Given the description of an element on the screen output the (x, y) to click on. 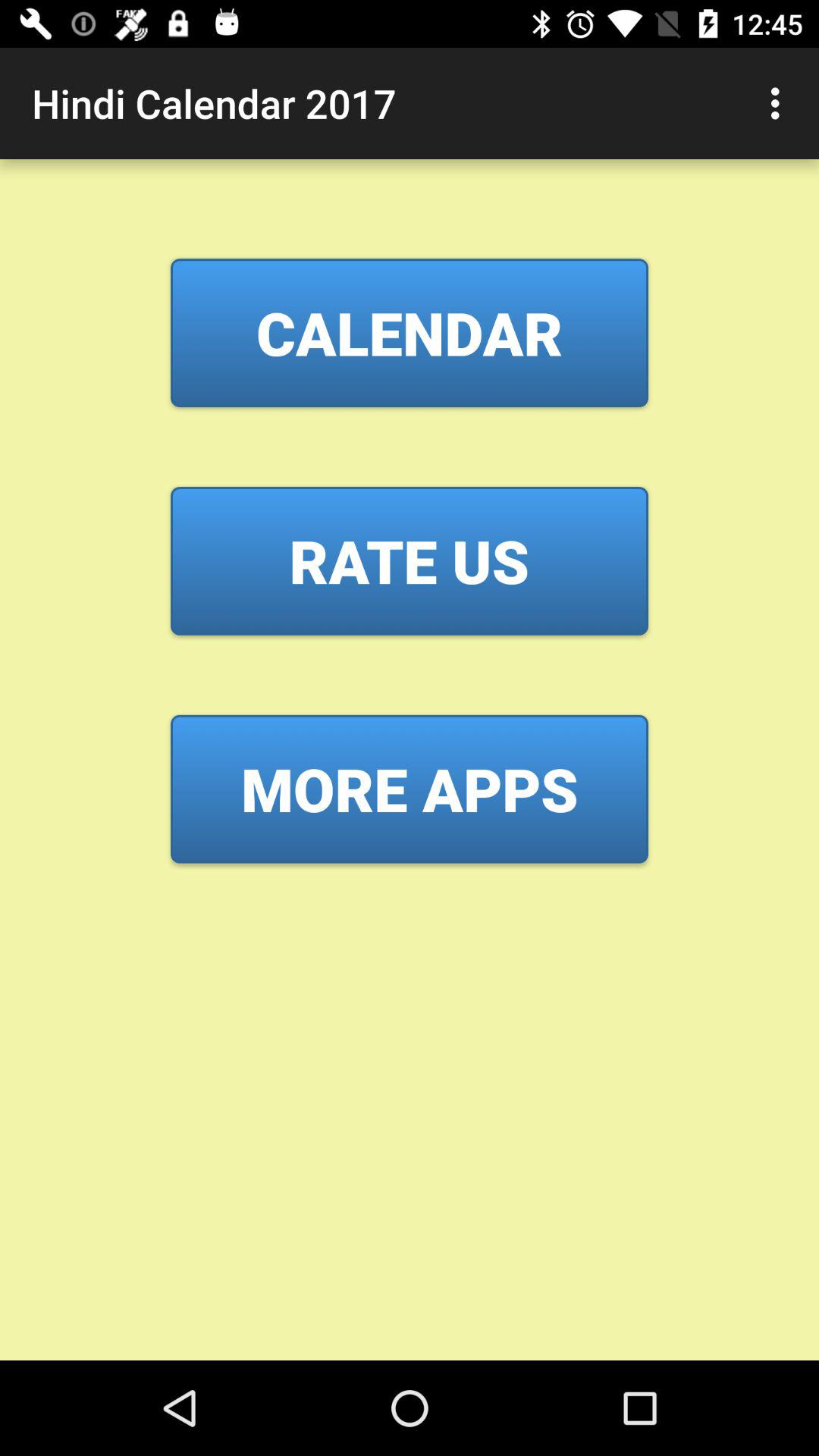
open more apps icon (409, 788)
